Given the description of an element on the screen output the (x, y) to click on. 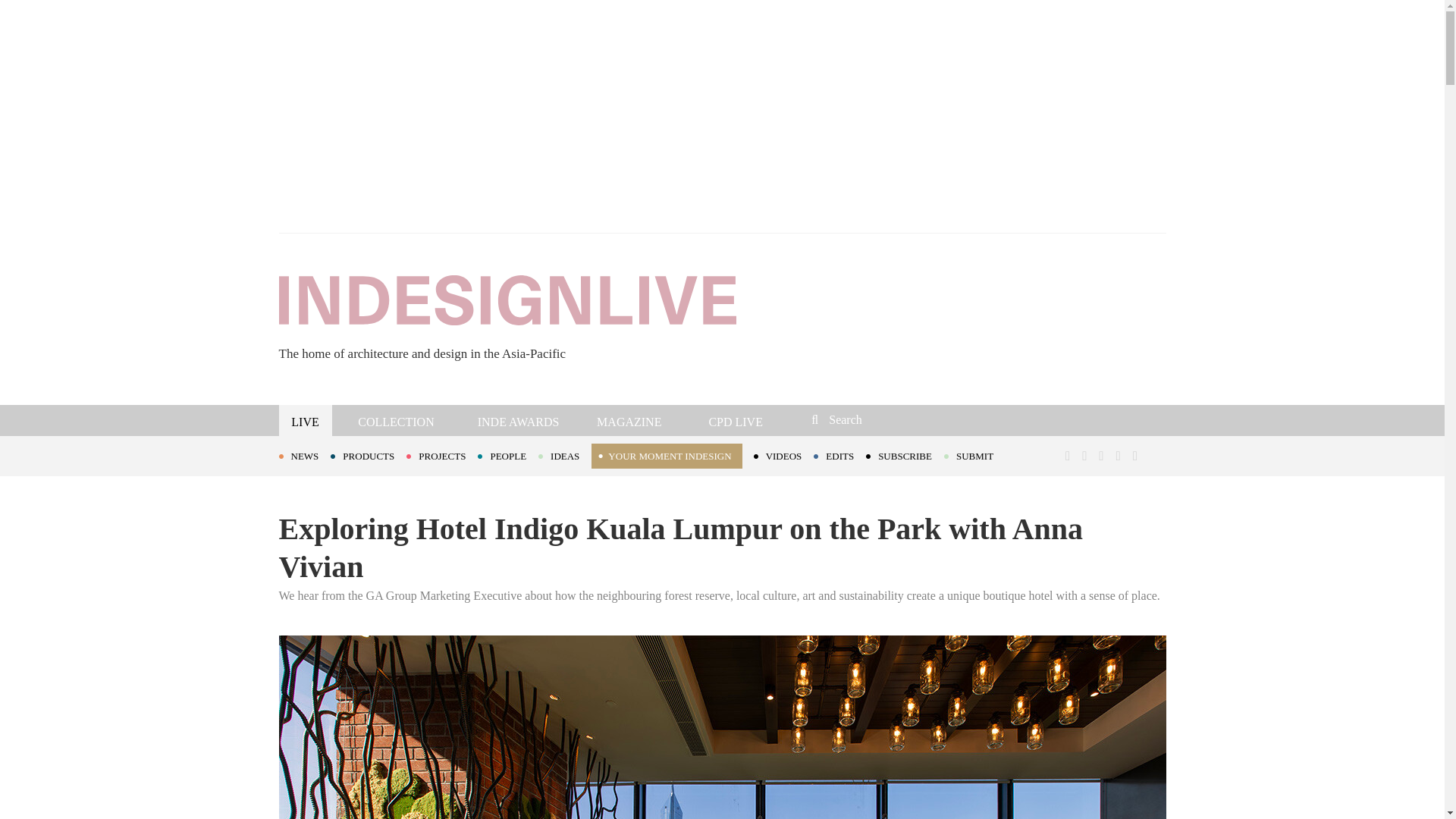
SUBMIT (974, 455)
NEWS (305, 455)
YOUR MOMENT INDESIGN (666, 455)
Search (913, 418)
EDITS (839, 455)
PRODUCTS (368, 455)
IDEAS (564, 455)
PROJECTS (441, 455)
PEOPLE (507, 455)
